Given the description of an element on the screen output the (x, y) to click on. 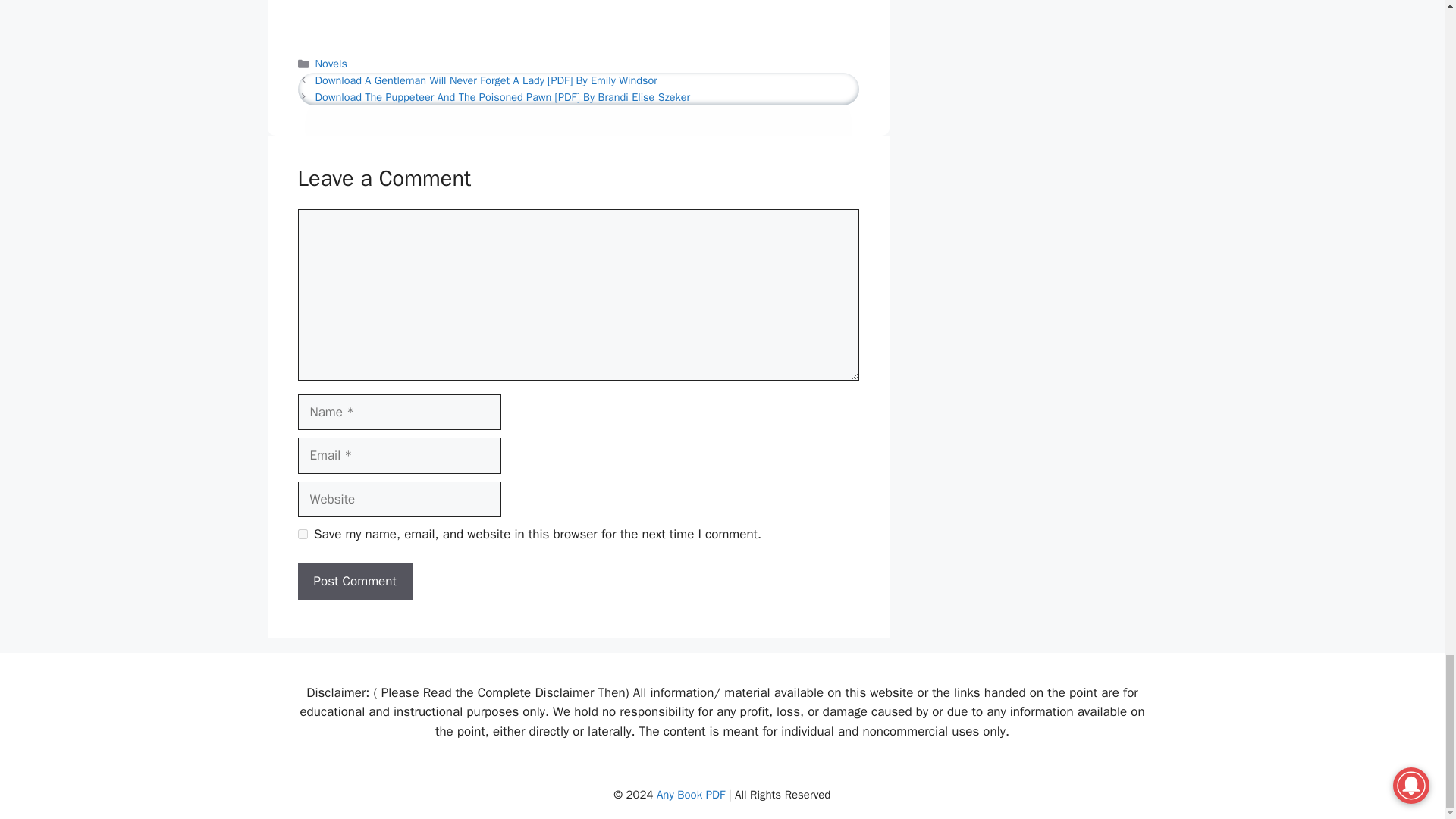
yes (302, 533)
Post Comment (354, 581)
